Given the description of an element on the screen output the (x, y) to click on. 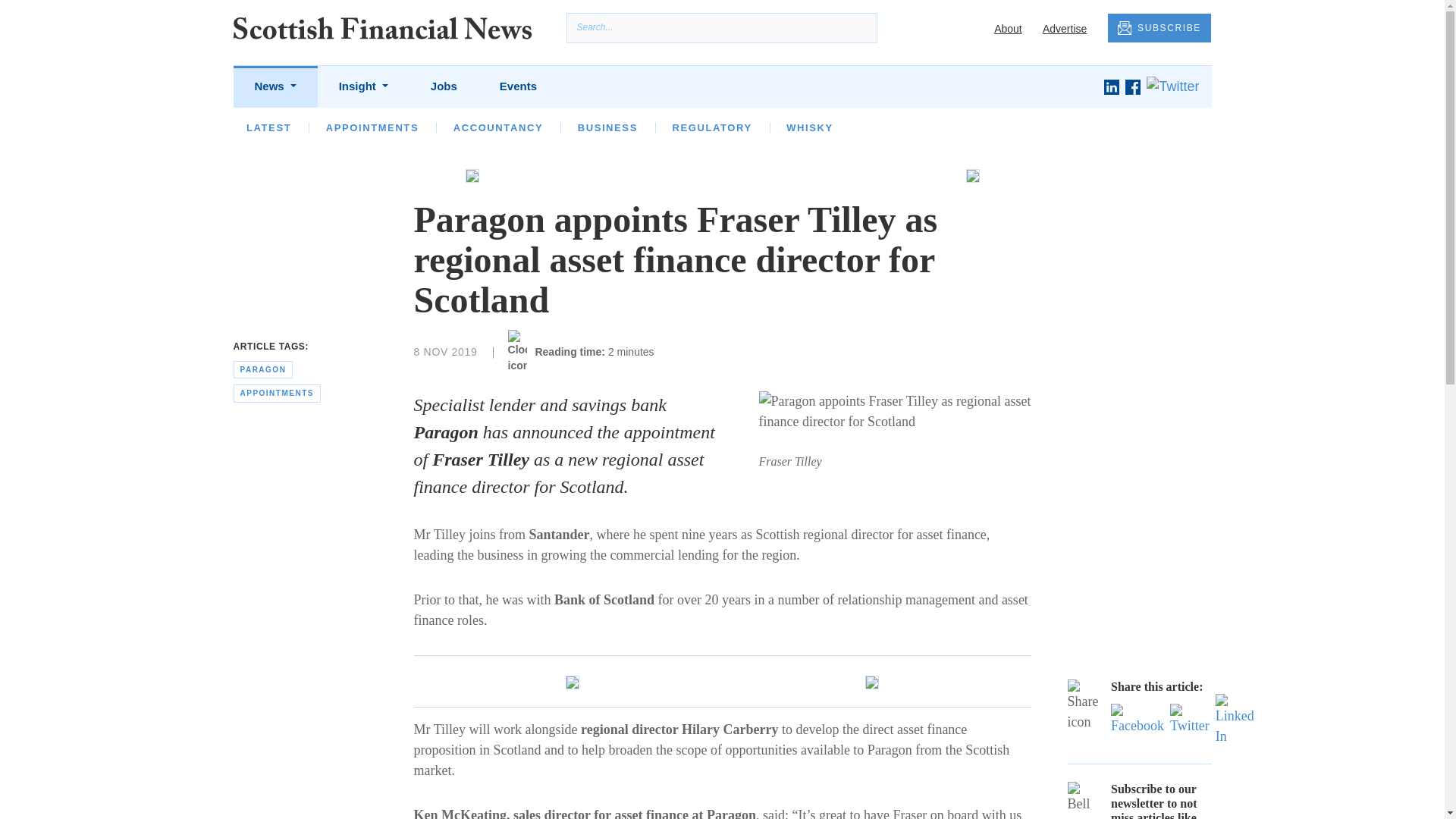
SUBSCRIBE (1158, 28)
BUSINESS (607, 127)
News (274, 86)
INTERVIEWS (446, 127)
About (1008, 28)
REGULATORY (711, 127)
Events (518, 86)
LATEST (268, 127)
Advertise (1064, 28)
ACCOUNTANCY (497, 127)
Jobs (444, 86)
OPINION (350, 127)
Insight (363, 86)
WHISKY (809, 127)
APPOINTMENTS (372, 127)
